Given the description of an element on the screen output the (x, y) to click on. 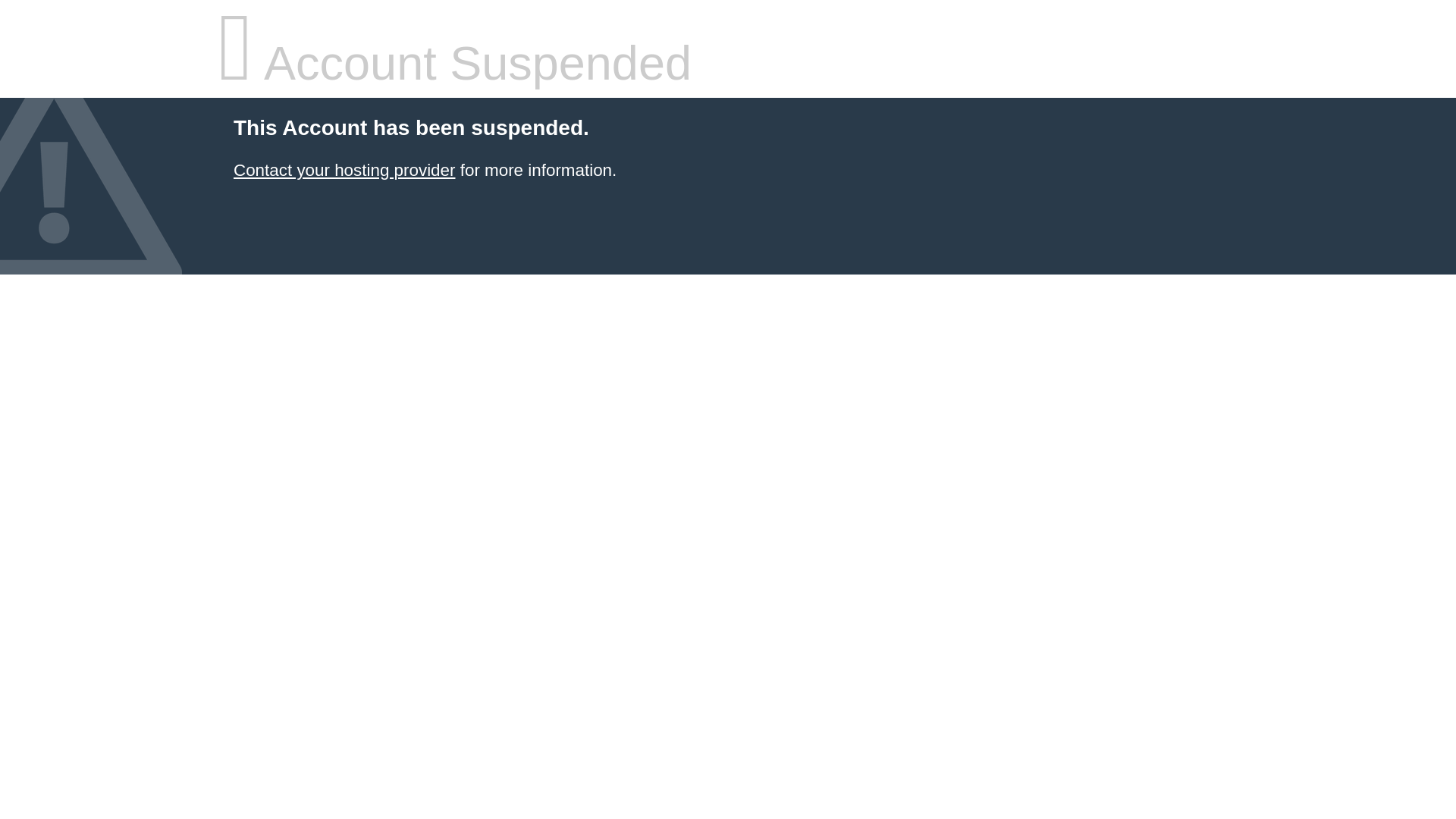
Contact your hosting provider (343, 169)
